Given the description of an element on the screen output the (x, y) to click on. 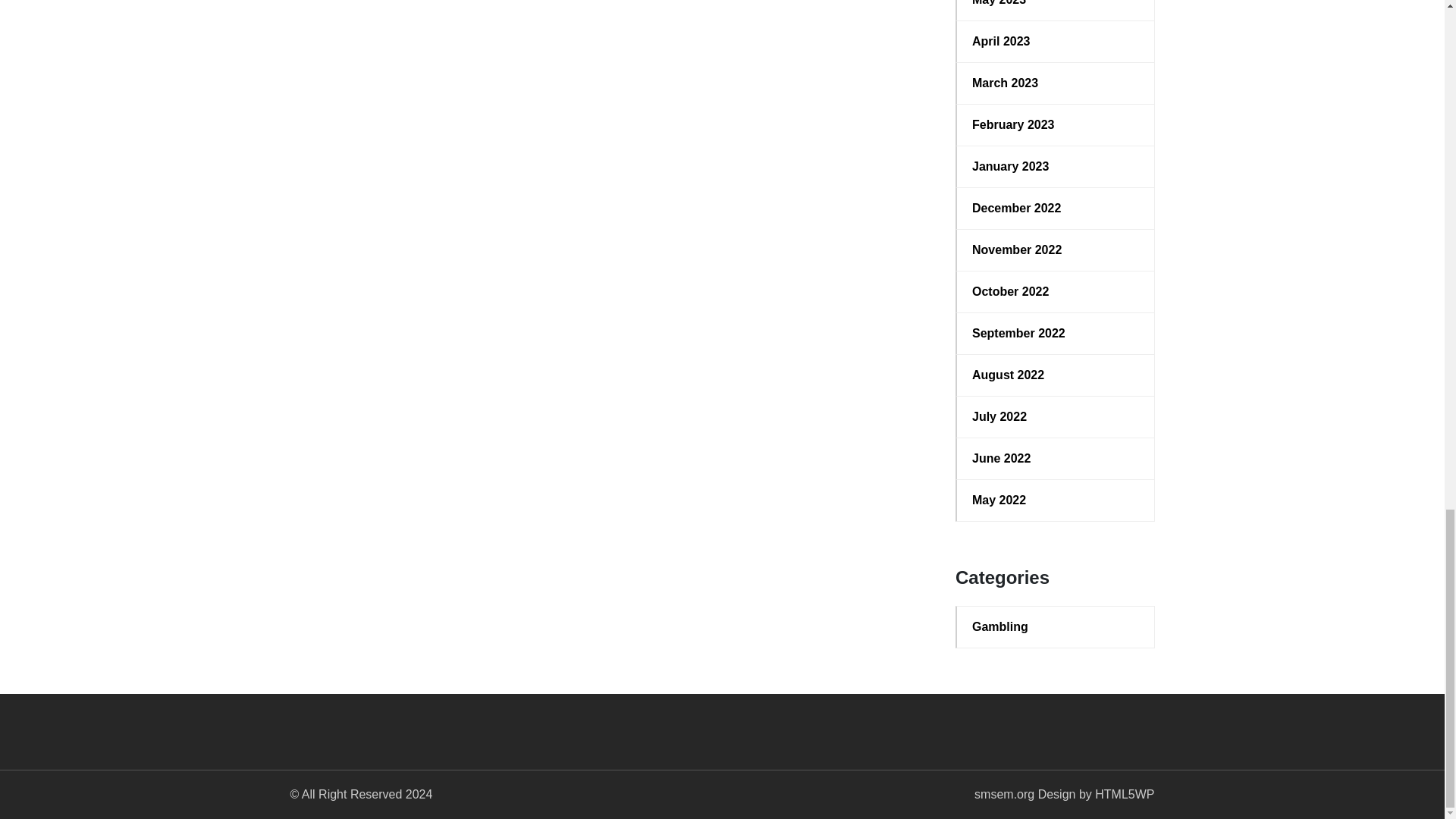
July 2022 (1055, 416)
November 2022 (1055, 249)
June 2022 (1055, 458)
April 2023 (1055, 41)
January 2023 (1055, 167)
February 2023 (1055, 125)
May 2023 (1055, 4)
August 2022 (1055, 375)
December 2022 (1055, 208)
October 2022 (1055, 291)
September 2022 (1055, 333)
March 2023 (1055, 83)
